Given the description of an element on the screen output the (x, y) to click on. 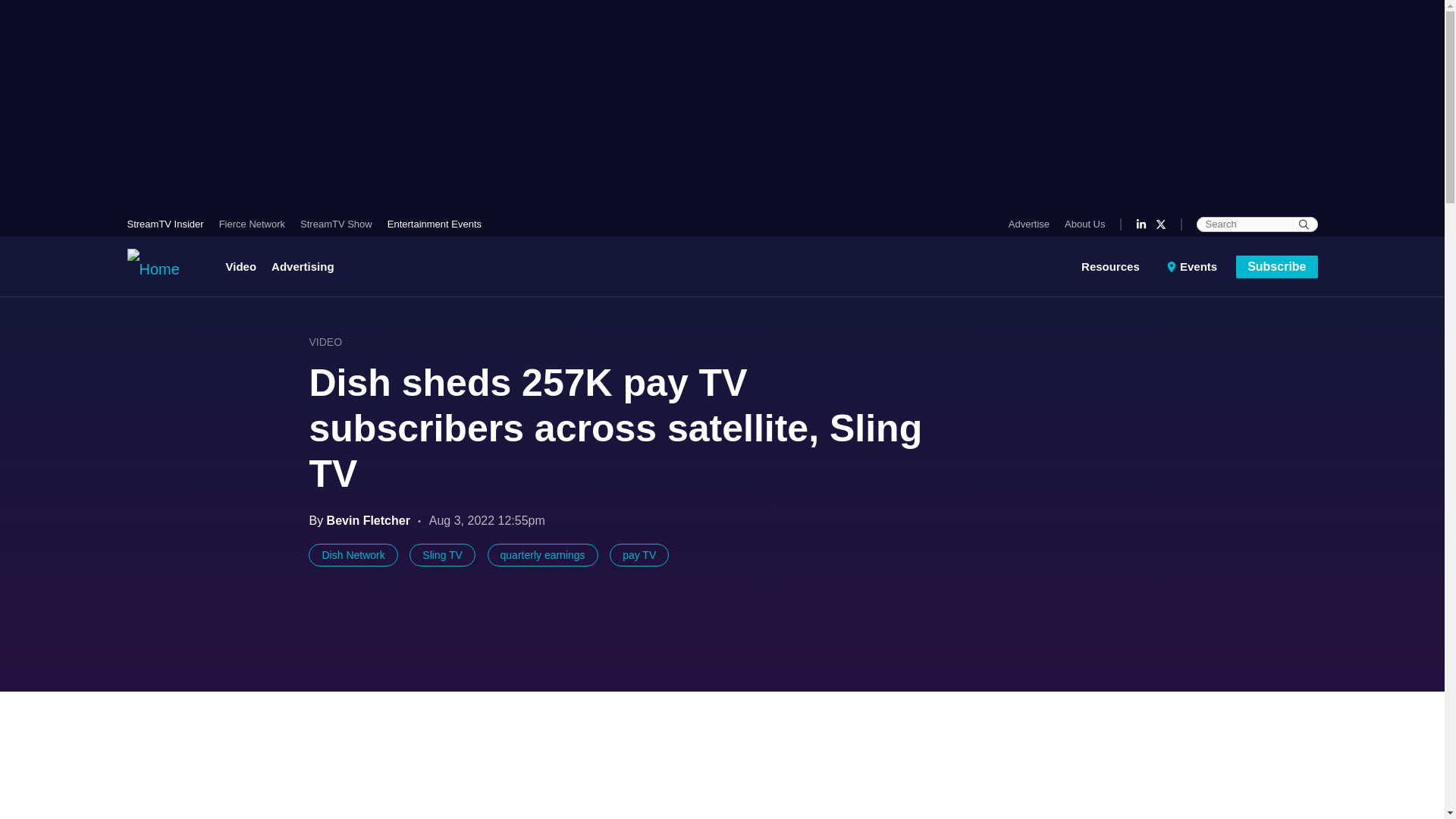
Entertainment Events (430, 224)
StreamTV Insider (169, 224)
Sling TV (442, 554)
Subscribe (1276, 265)
StreamTV Show (336, 224)
Advertise (1033, 224)
Video (244, 266)
Subscribe (1276, 265)
Video (244, 266)
Advertising (302, 266)
